Given the description of an element on the screen output the (x, y) to click on. 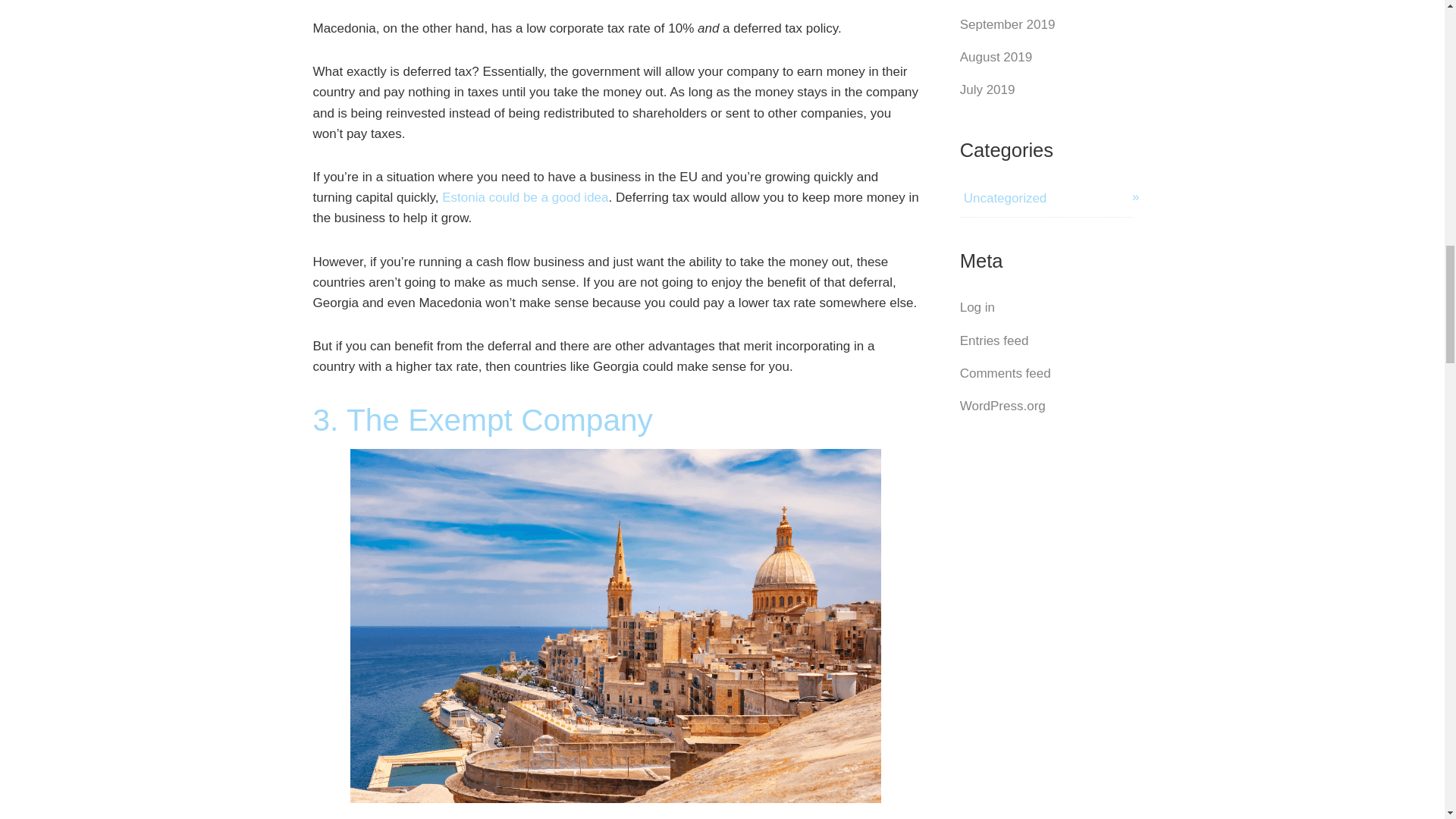
Estonia could be a good idea (525, 197)
